Given the description of an element on the screen output the (x, y) to click on. 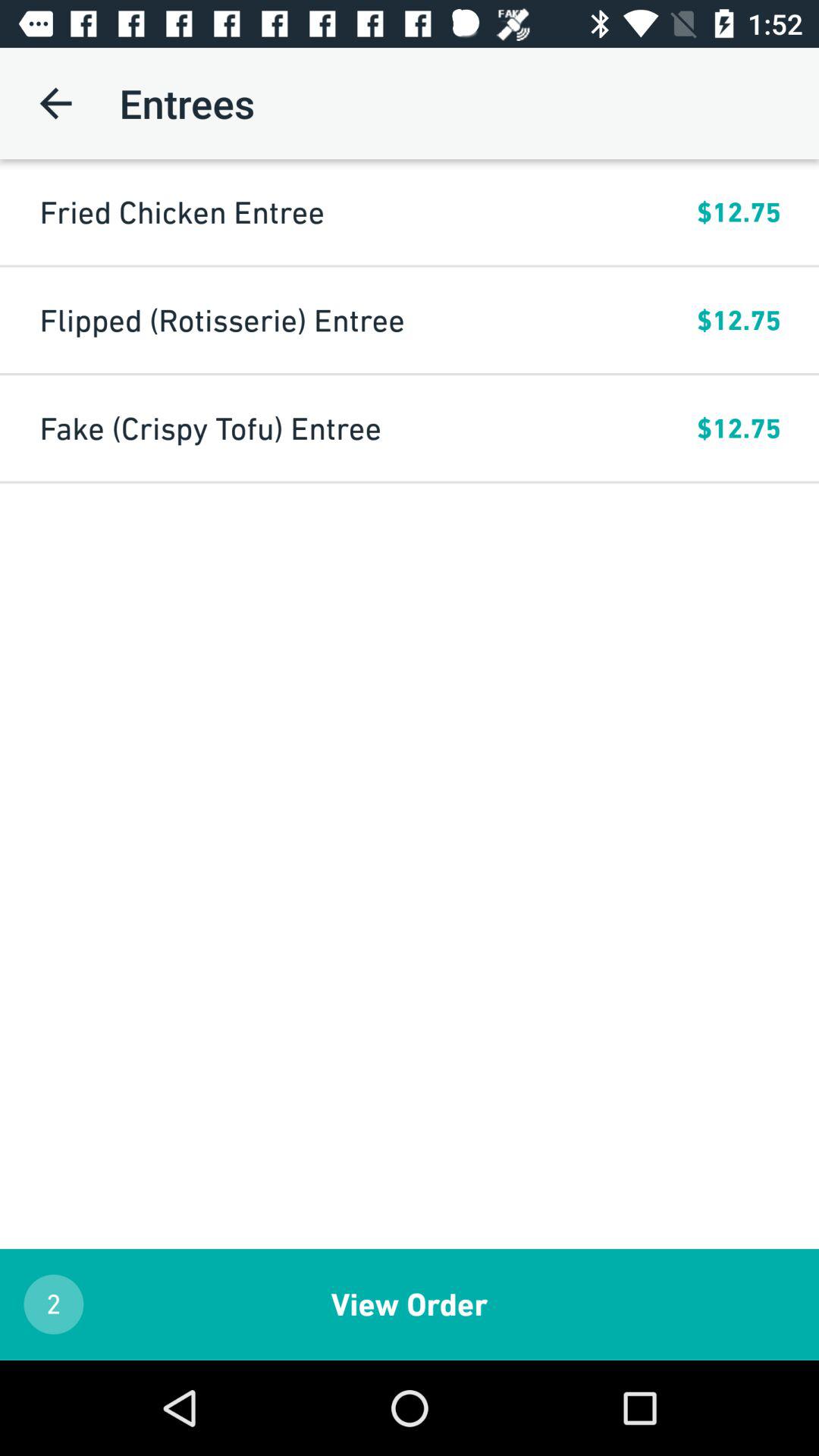
click the icon to the left of the entrees icon (55, 103)
